Given the description of an element on the screen output the (x, y) to click on. 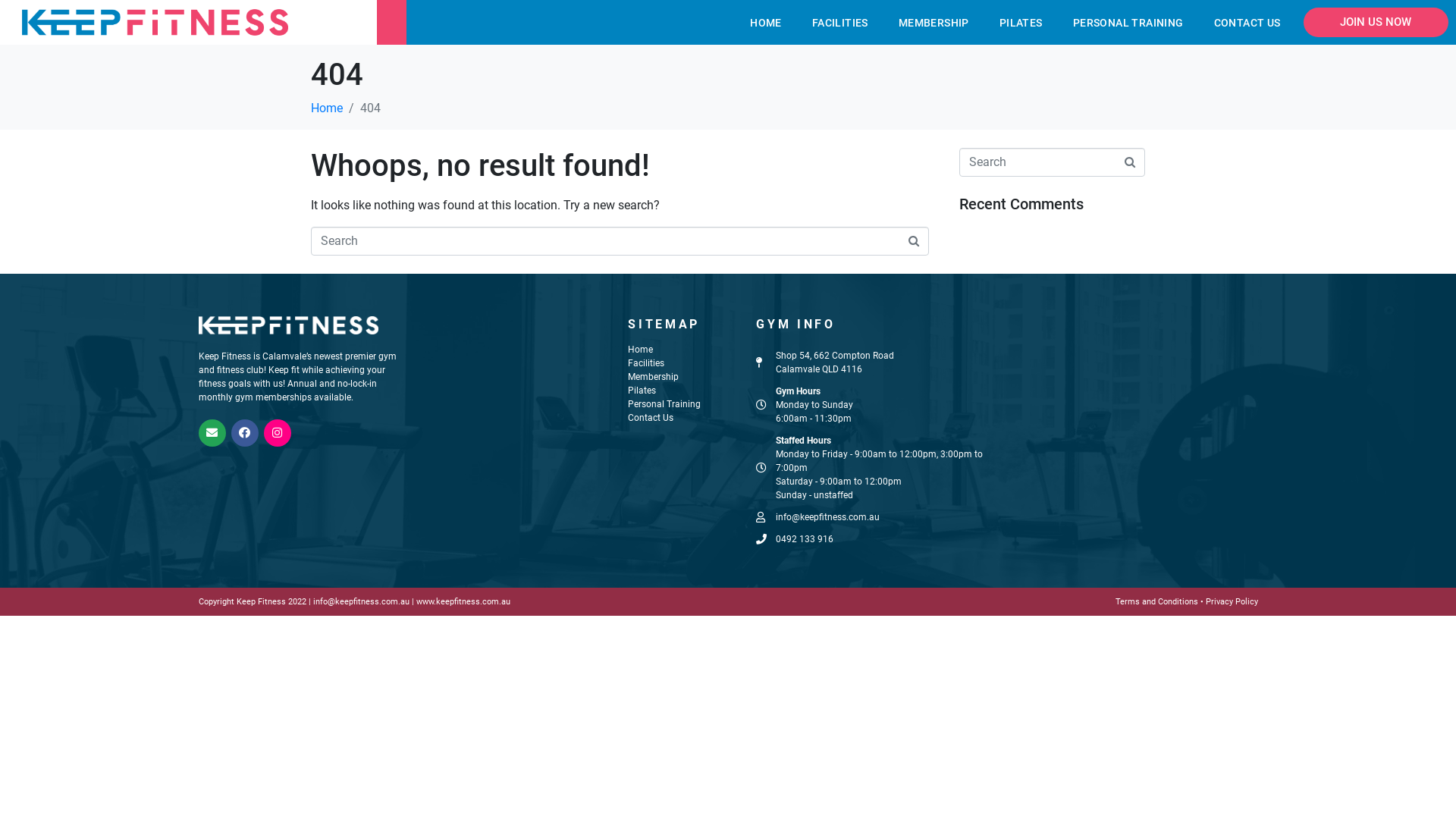
JOIN US NOW Element type: text (1375, 22)
Membership Element type: text (652, 376)
HOME Element type: text (765, 22)
PILATES Element type: text (1020, 22)
Pilates Element type: text (641, 390)
662 Compton Road, Calamvale Element type: hover (1143, 424)
FACILITIES Element type: text (840, 22)
Home Element type: text (639, 349)
MEMBERSHIP Element type: text (933, 22)
Facilities Element type: text (645, 362)
PERSONAL TRAINING Element type: text (1127, 22)
CONTACT US Element type: text (1246, 22)
Personal Training Element type: text (663, 403)
Privacy Policy Element type: text (1231, 601)
Home Element type: text (326, 107)
Contact Us Element type: text (650, 417)
Terms and Conditions Element type: text (1156, 601)
